Given the description of an element on the screen output the (x, y) to click on. 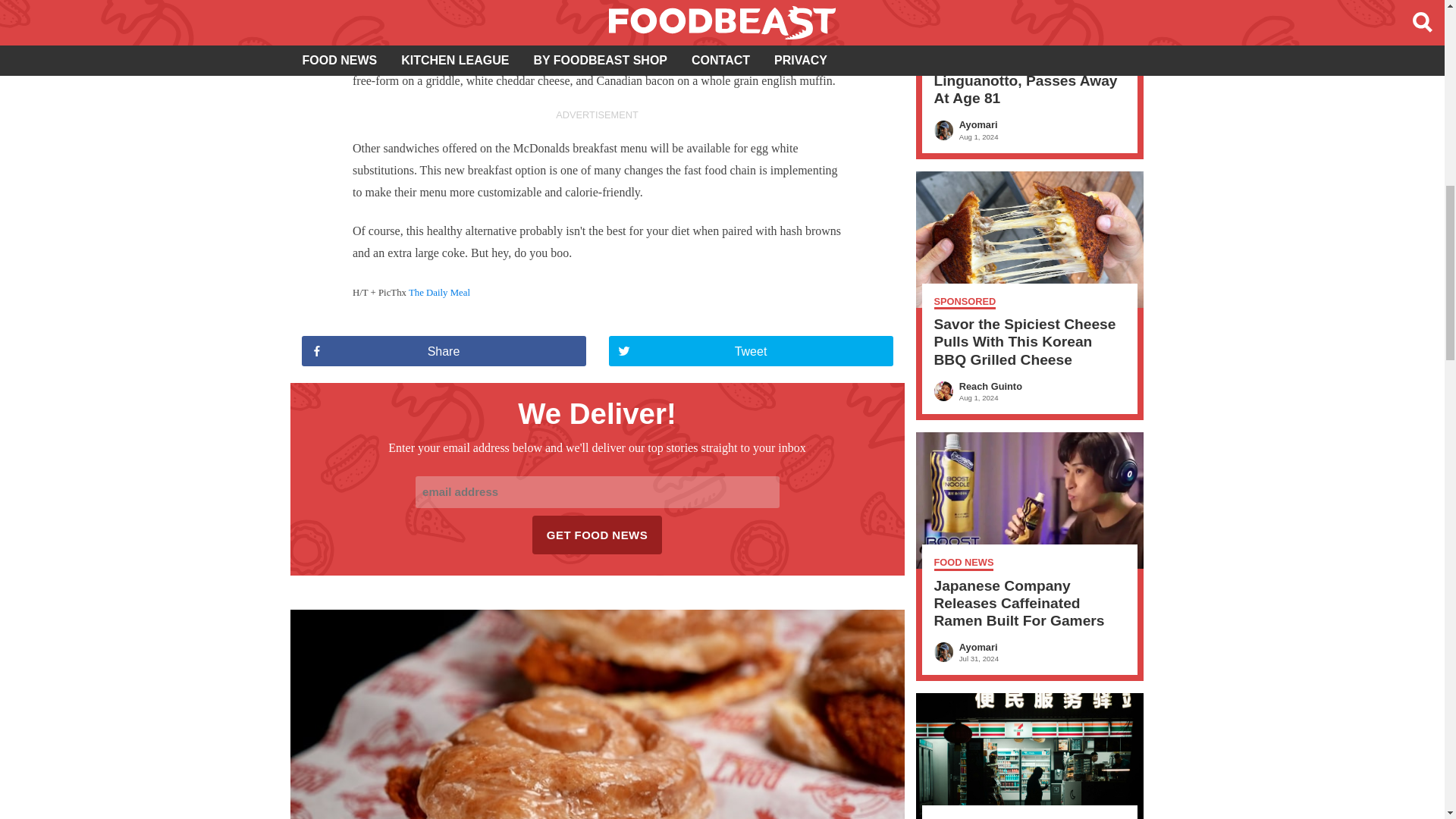
Share (443, 350)
Tweet (750, 350)
GET FOOD NEWS (597, 534)
The Daily Meal (439, 292)
GET FOOD NEWS (597, 534)
